Given the description of an element on the screen output the (x, y) to click on. 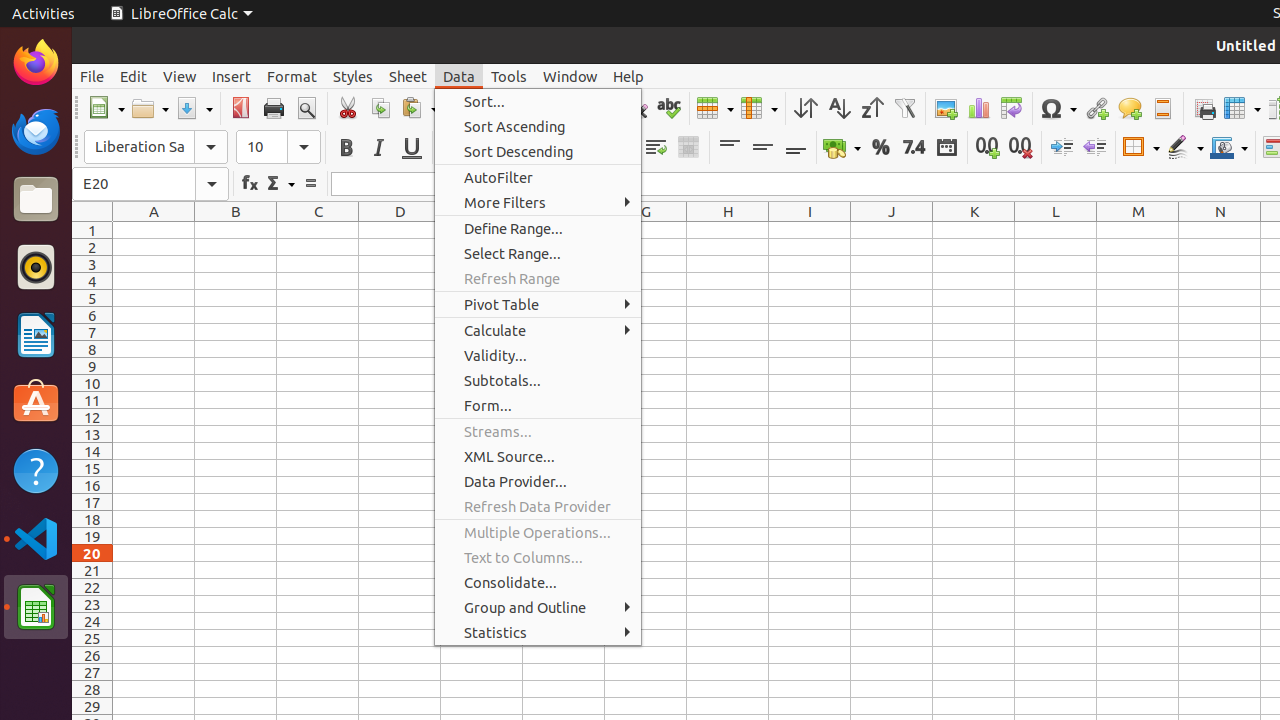
New Element type: push-button (106, 108)
Delete Decimal Place Element type: push-button (1020, 147)
Pivot Table Element type: push-button (1011, 108)
J1 Element type: table-cell (892, 230)
Number Element type: push-button (913, 147)
